Given the description of an element on the screen output the (x, y) to click on. 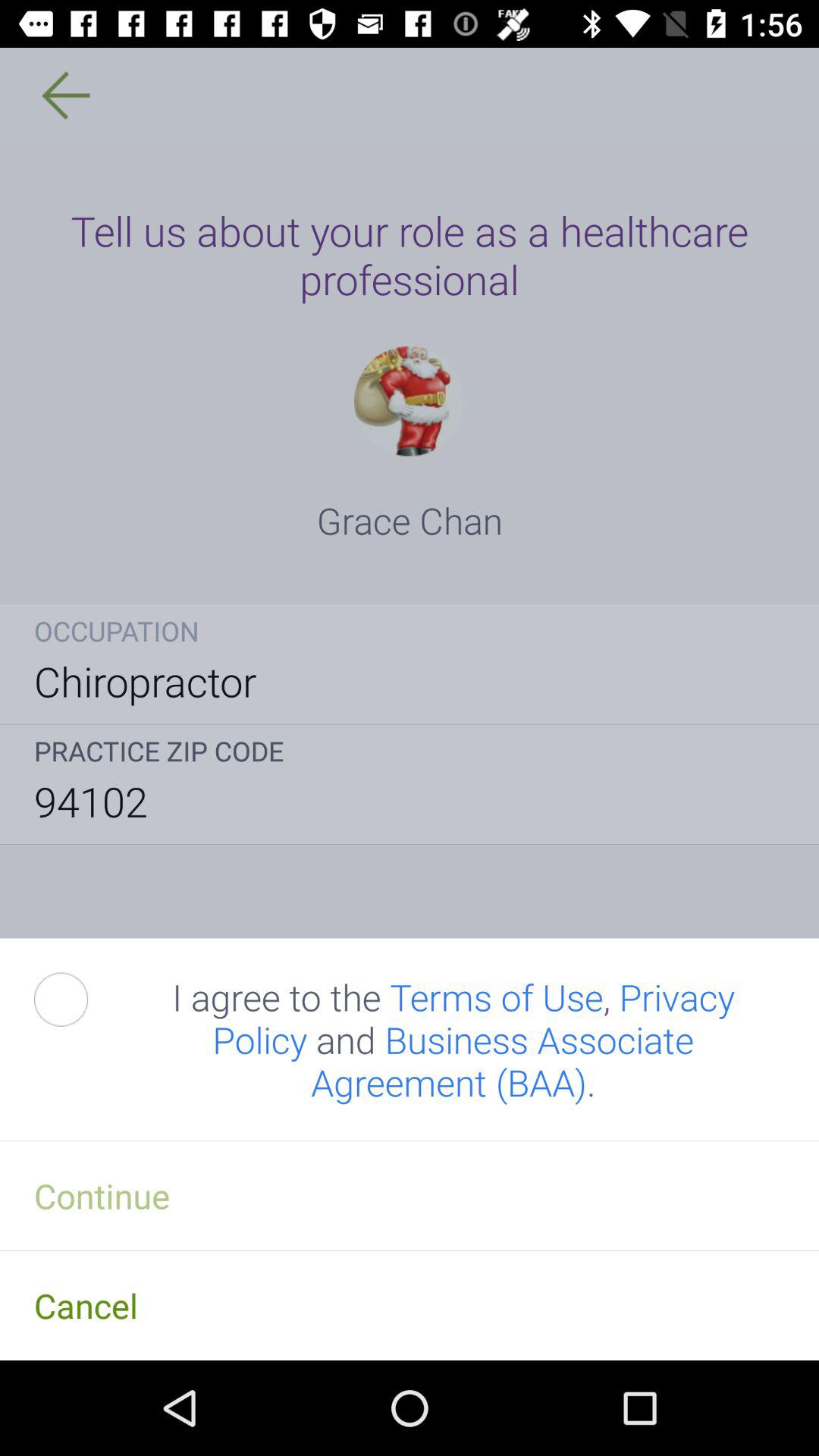
launch item above continue (453, 1039)
